Given the description of an element on the screen output the (x, y) to click on. 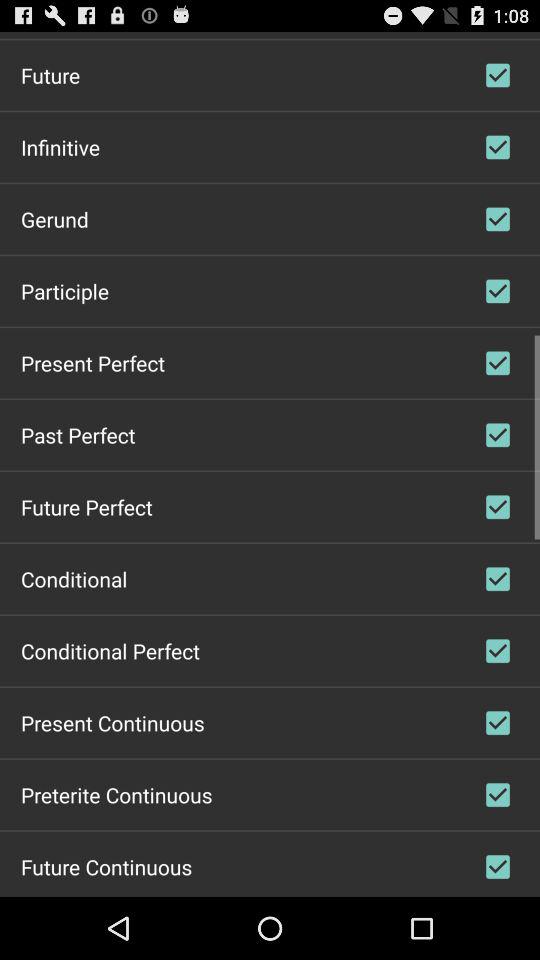
open the gerund icon (54, 218)
